Given the description of an element on the screen output the (x, y) to click on. 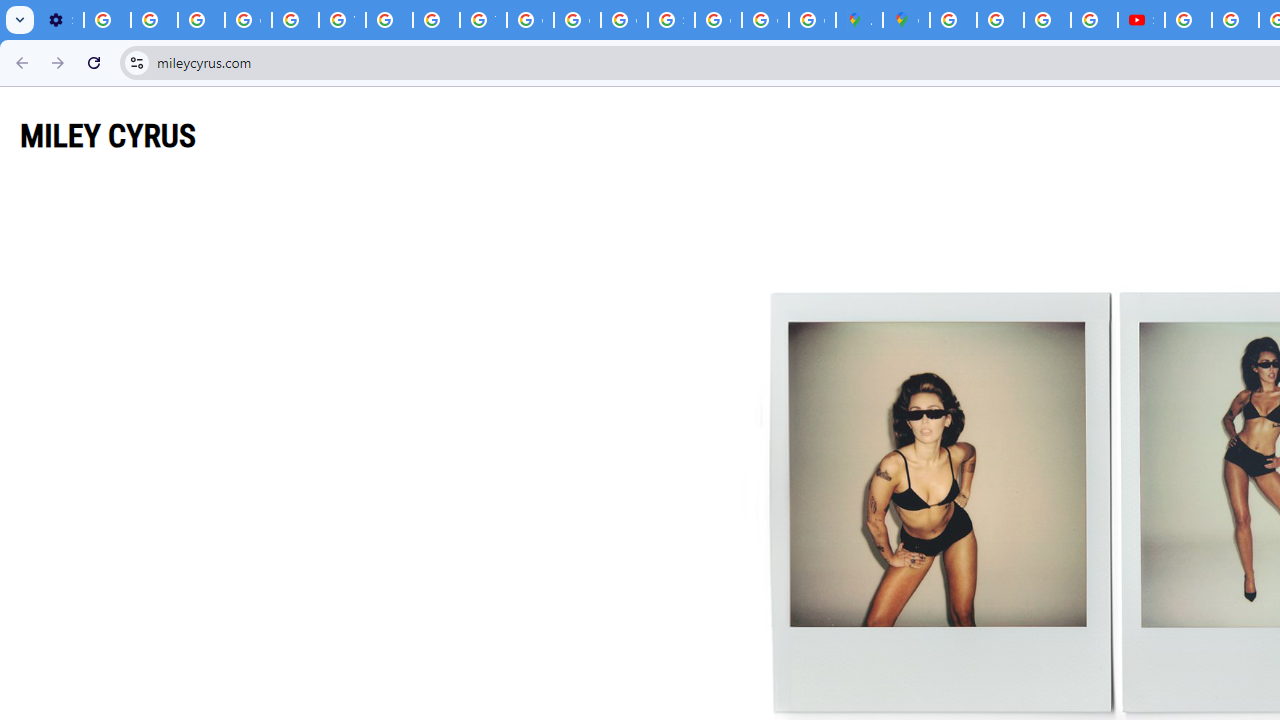
Delete photos & videos - Computer - Google Photos Help (107, 20)
Privacy Help Center - Policies Help (1047, 20)
